Given the description of an element on the screen output the (x, y) to click on. 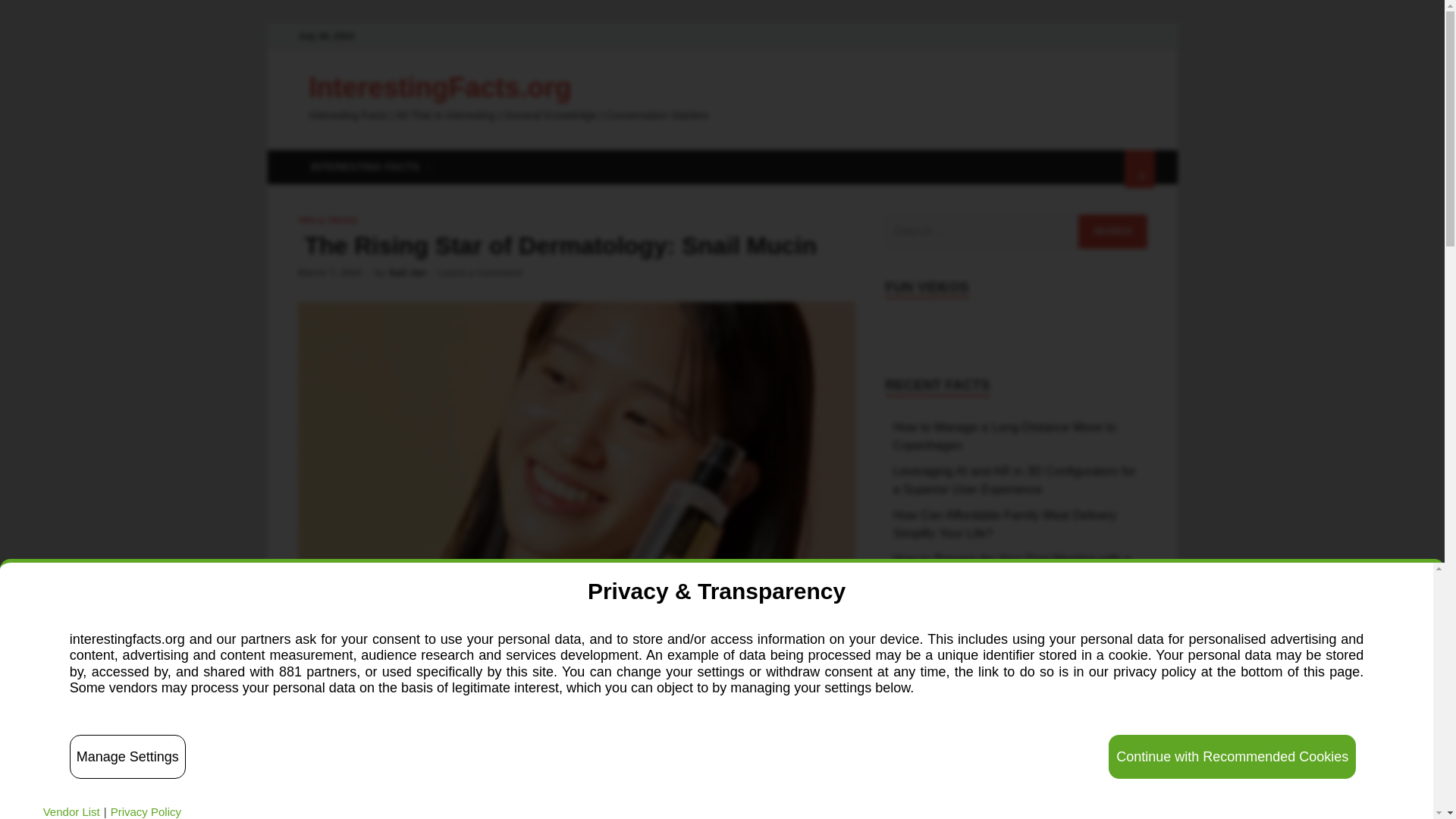
Conversation Starters (951, 739)
Definitions (921, 766)
Cannabis (918, 714)
Search (1112, 231)
Search (1112, 231)
How to Manage a Long-Distance Move to Copenhagen (1004, 436)
INTERESTING FACTS (369, 166)
Saif Jan (407, 272)
InterestingFacts.org (440, 87)
Search (1112, 231)
Leave a Comment (480, 272)
How Can Affordable Family Meal Delivery Simplify Your Life? (1004, 523)
March 7, 2024 (329, 272)
